Given the description of an element on the screen output the (x, y) to click on. 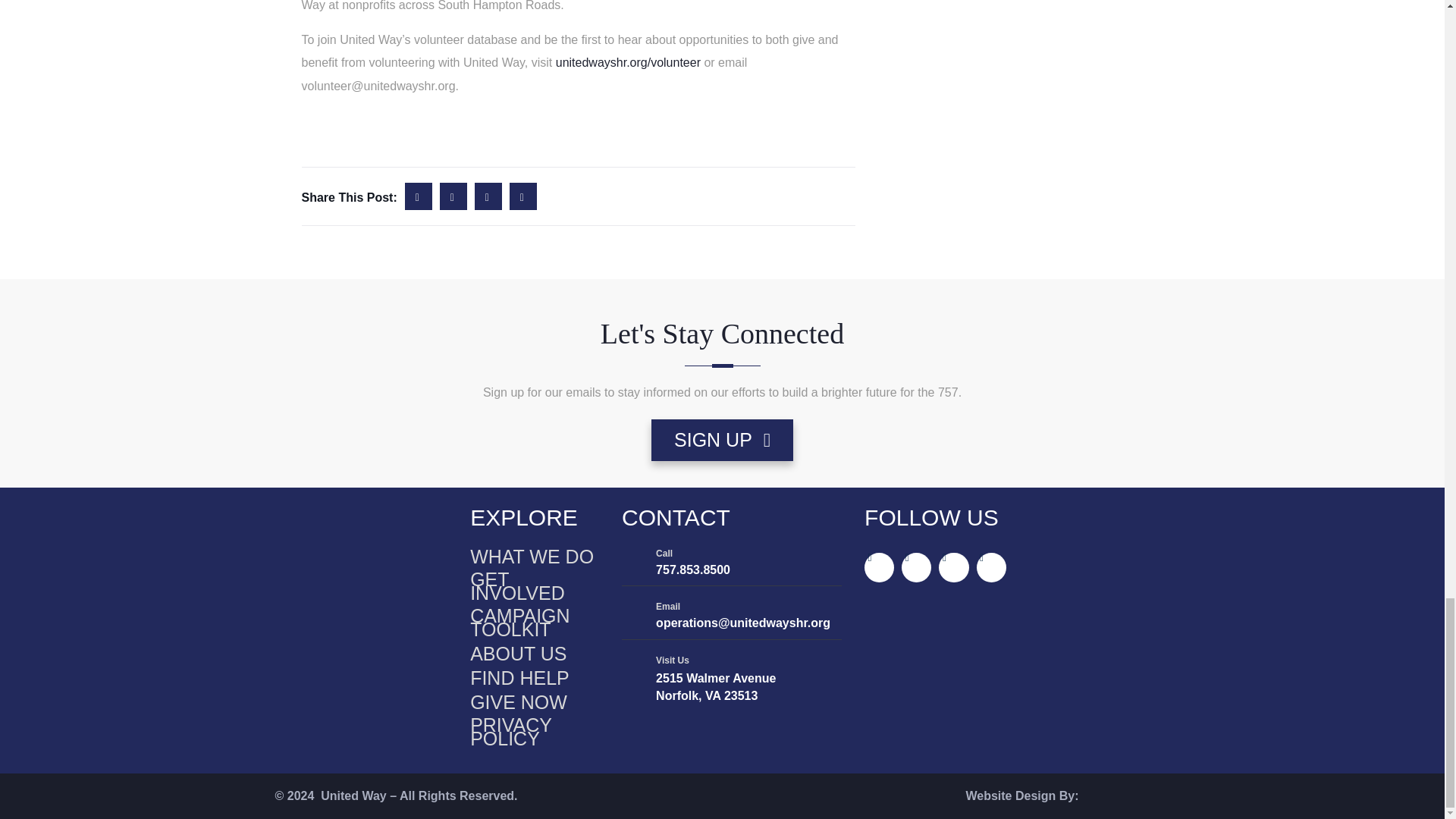
United Way of South Hampton Roads (343, 562)
